Given the description of an element on the screen output the (x, y) to click on. 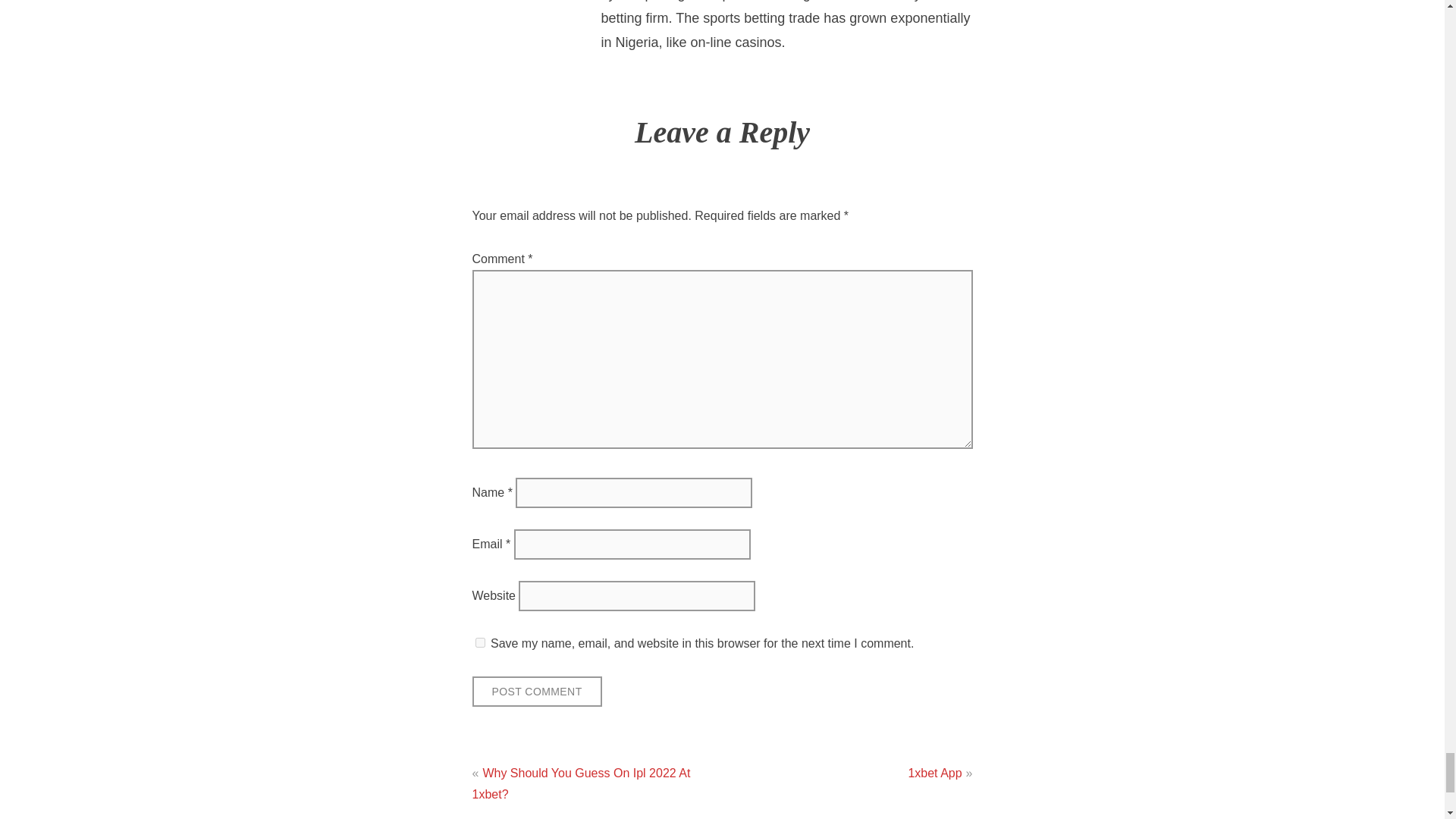
Why Should You Guess On Ipl 2022 At 1xbet? (580, 783)
1xbet App (933, 772)
Post Comment (536, 691)
yes (479, 642)
Post Comment (536, 691)
